Given the description of an element on the screen output the (x, y) to click on. 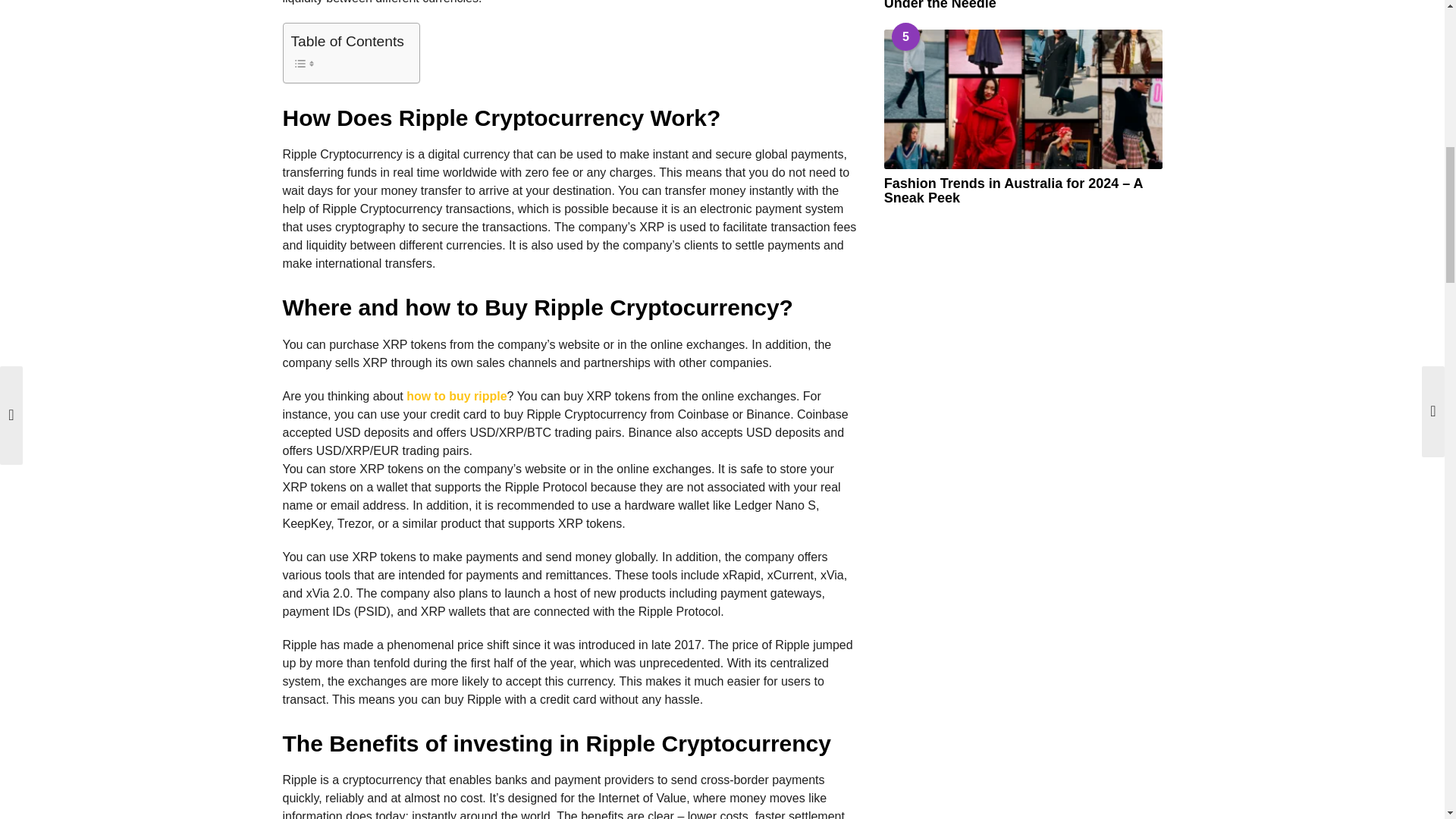
how to buy ripple (456, 395)
